Given the description of an element on the screen output the (x, y) to click on. 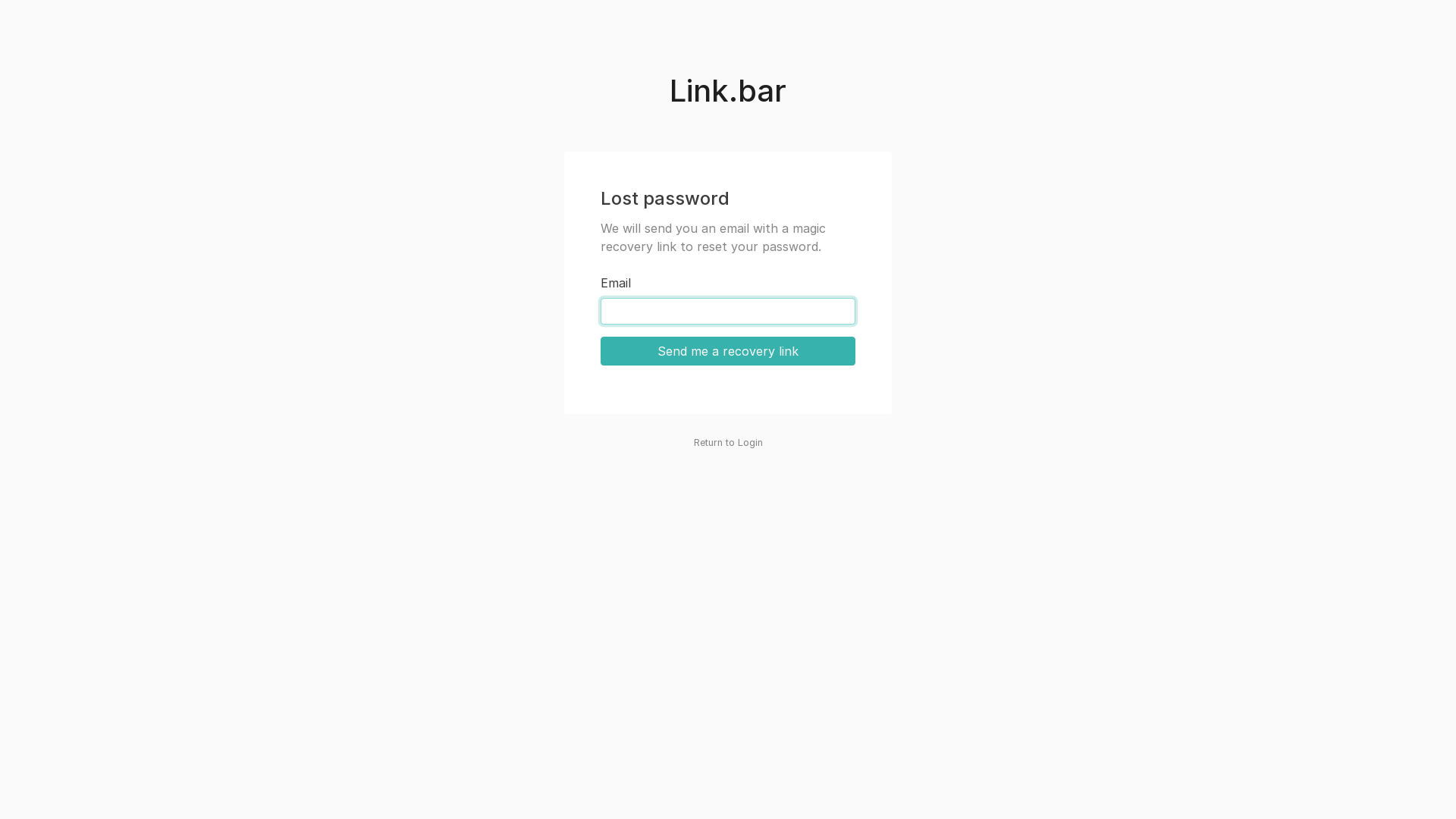
Link.bar Element type: text (727, 93)
Send me a recovery link Element type: text (728, 350)
Return to Login Element type: text (727, 442)
